Given the description of an element on the screen output the (x, y) to click on. 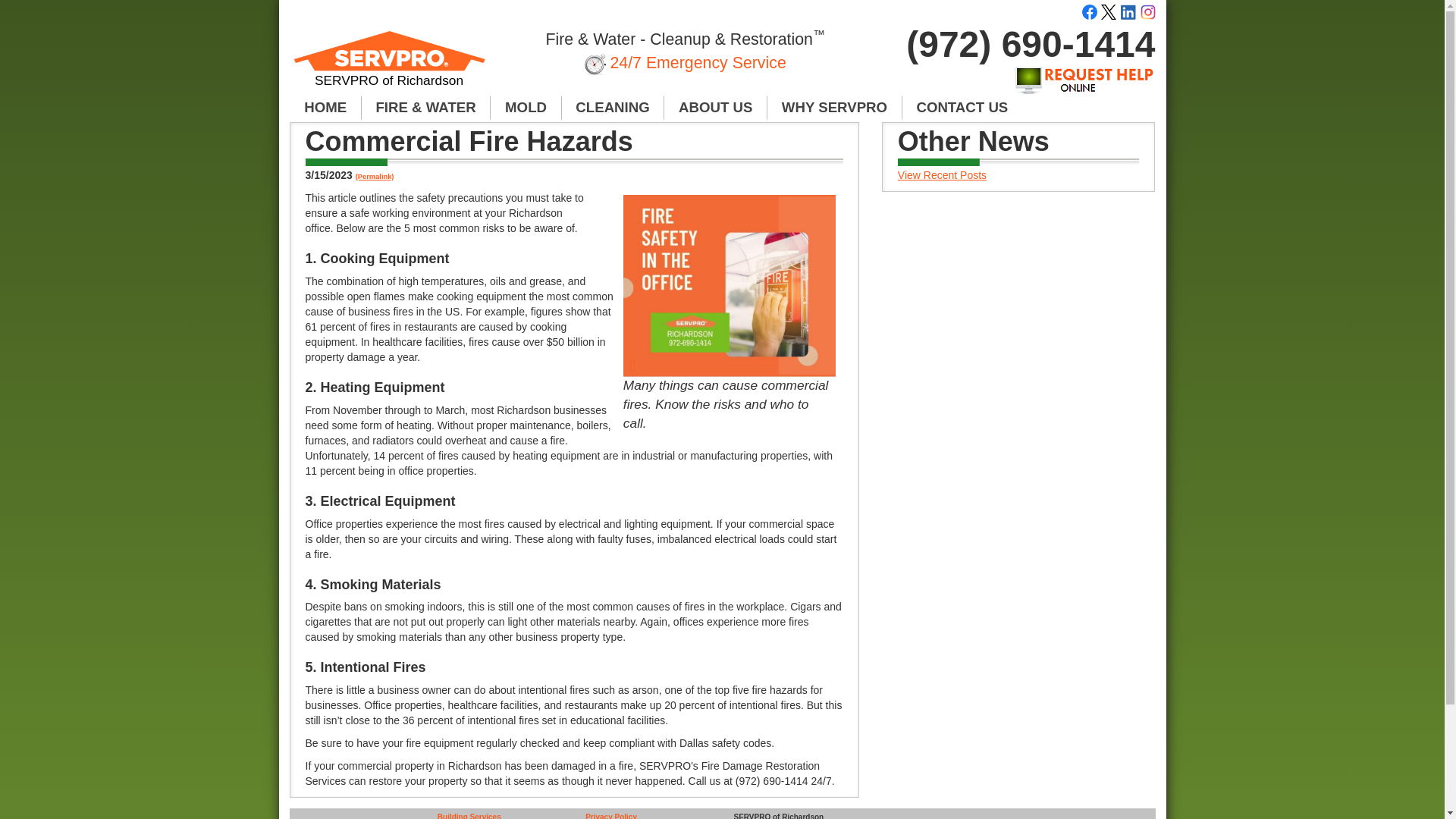
SERVPRO of Richardson (389, 65)
CLEANING (613, 108)
ABOUT US (715, 108)
HOME (325, 108)
MOLD (525, 108)
